Given the description of an element on the screen output the (x, y) to click on. 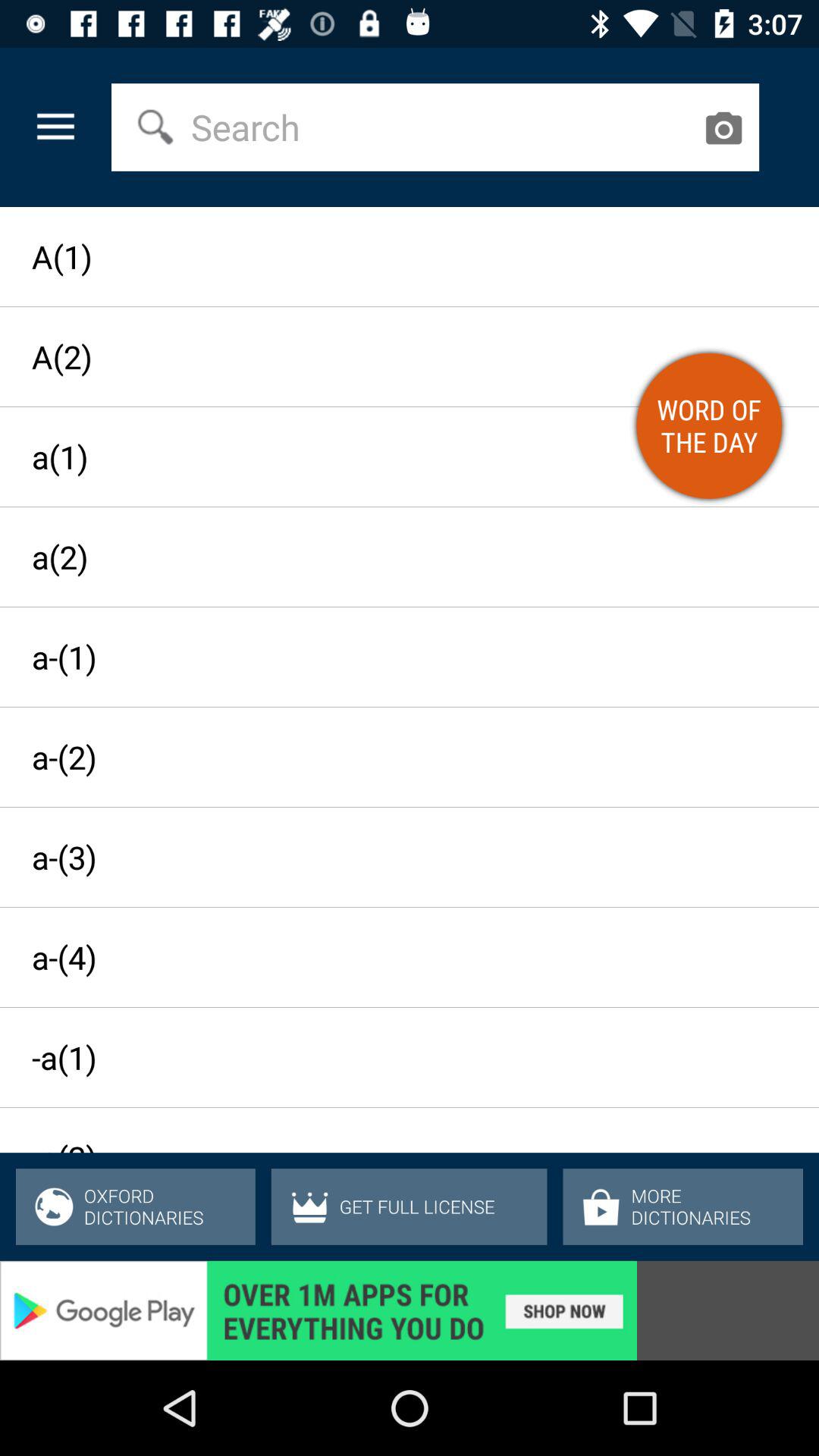
take photo (723, 127)
